Given the description of an element on the screen output the (x, y) to click on. 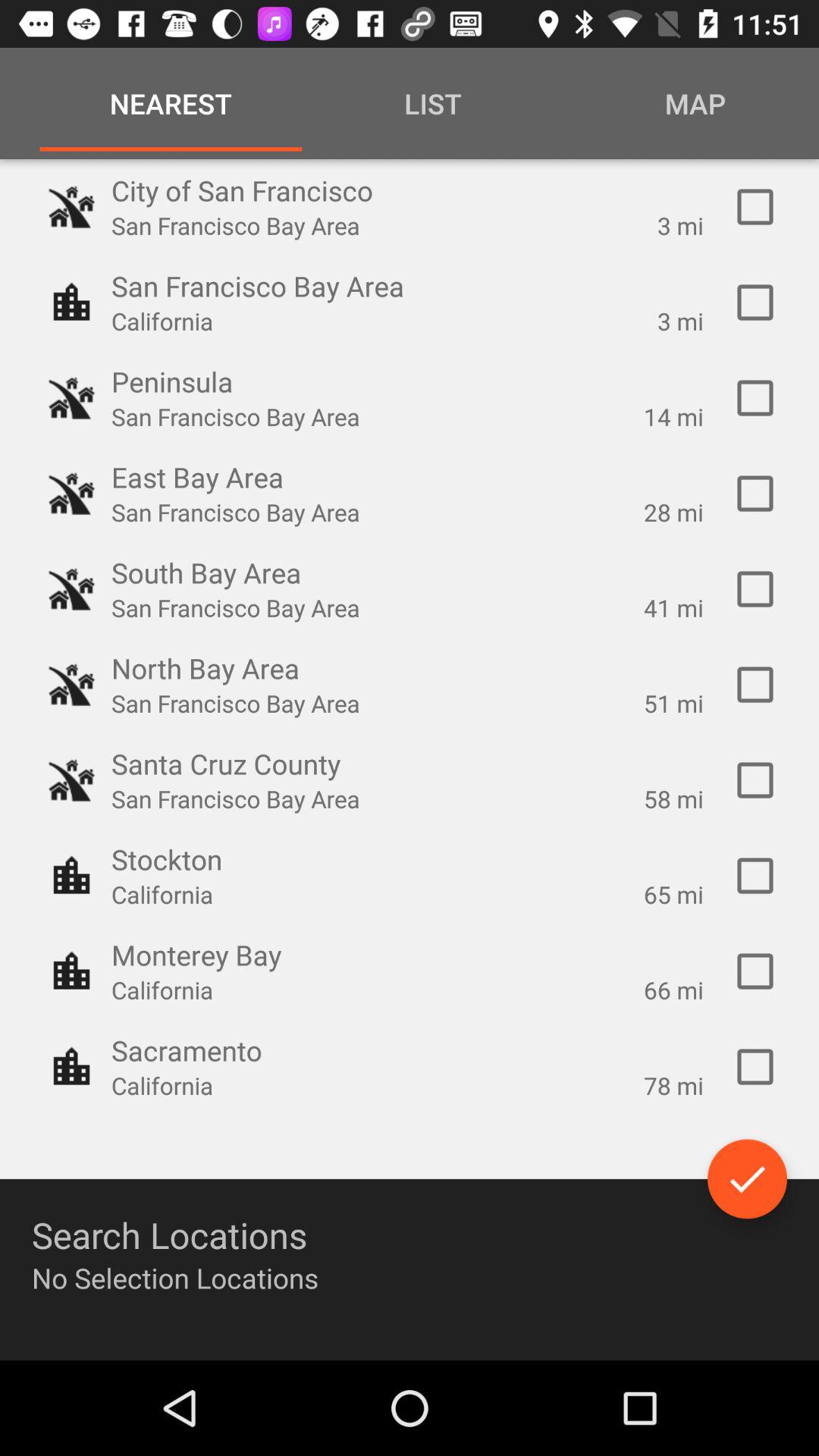
select east bay area (755, 493)
